Given the description of an element on the screen output the (x, y) to click on. 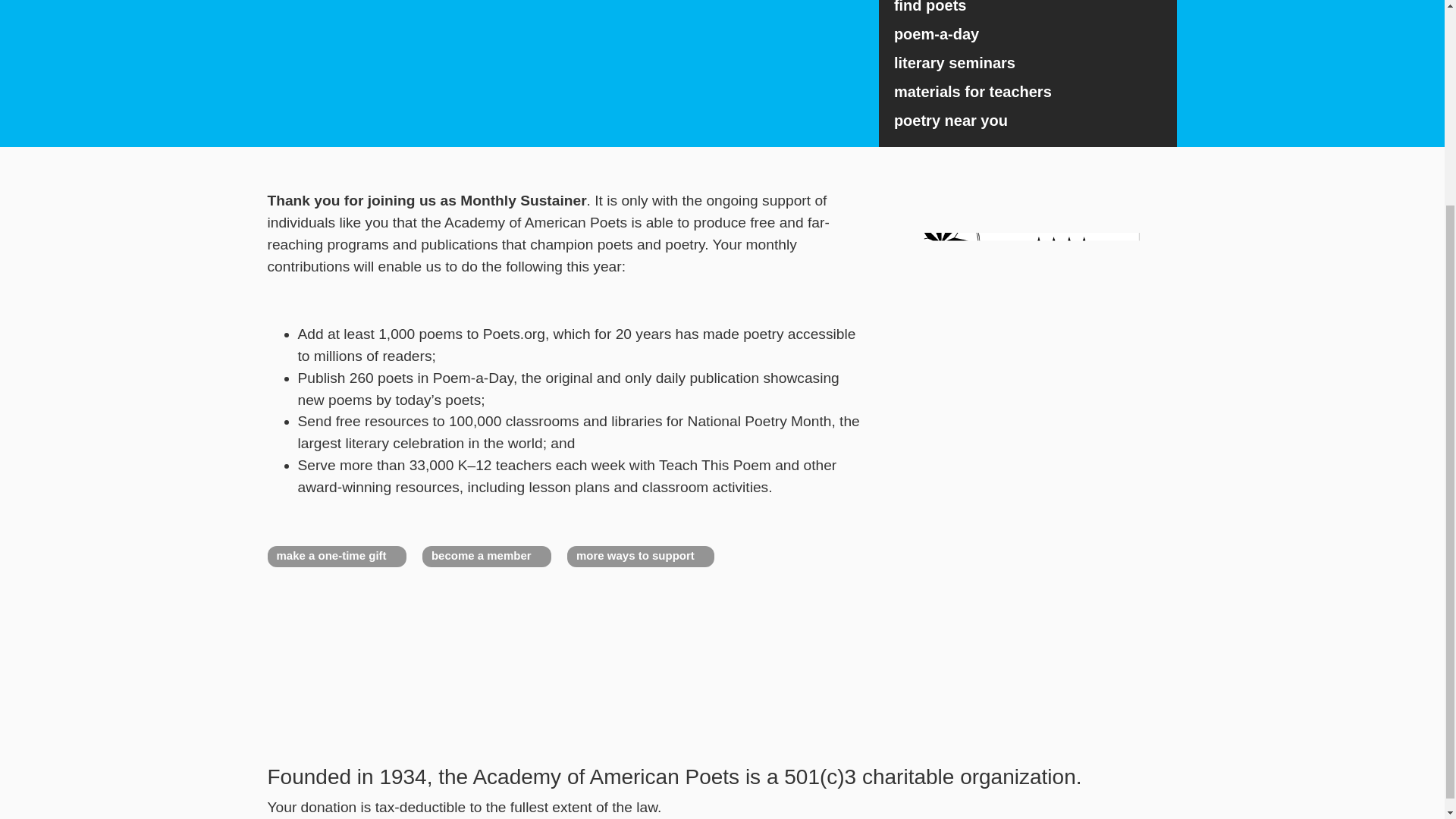
make a one-time gift (336, 556)
become a member (486, 556)
poem-a-day (1028, 33)
literary seminars (1028, 62)
materials for teachers (1028, 91)
poetry near you (1028, 120)
poem-a-day (1028, 33)
find poets (1028, 9)
literary seminars (1028, 62)
materials for teachers (1028, 91)
